Given the description of an element on the screen output the (x, y) to click on. 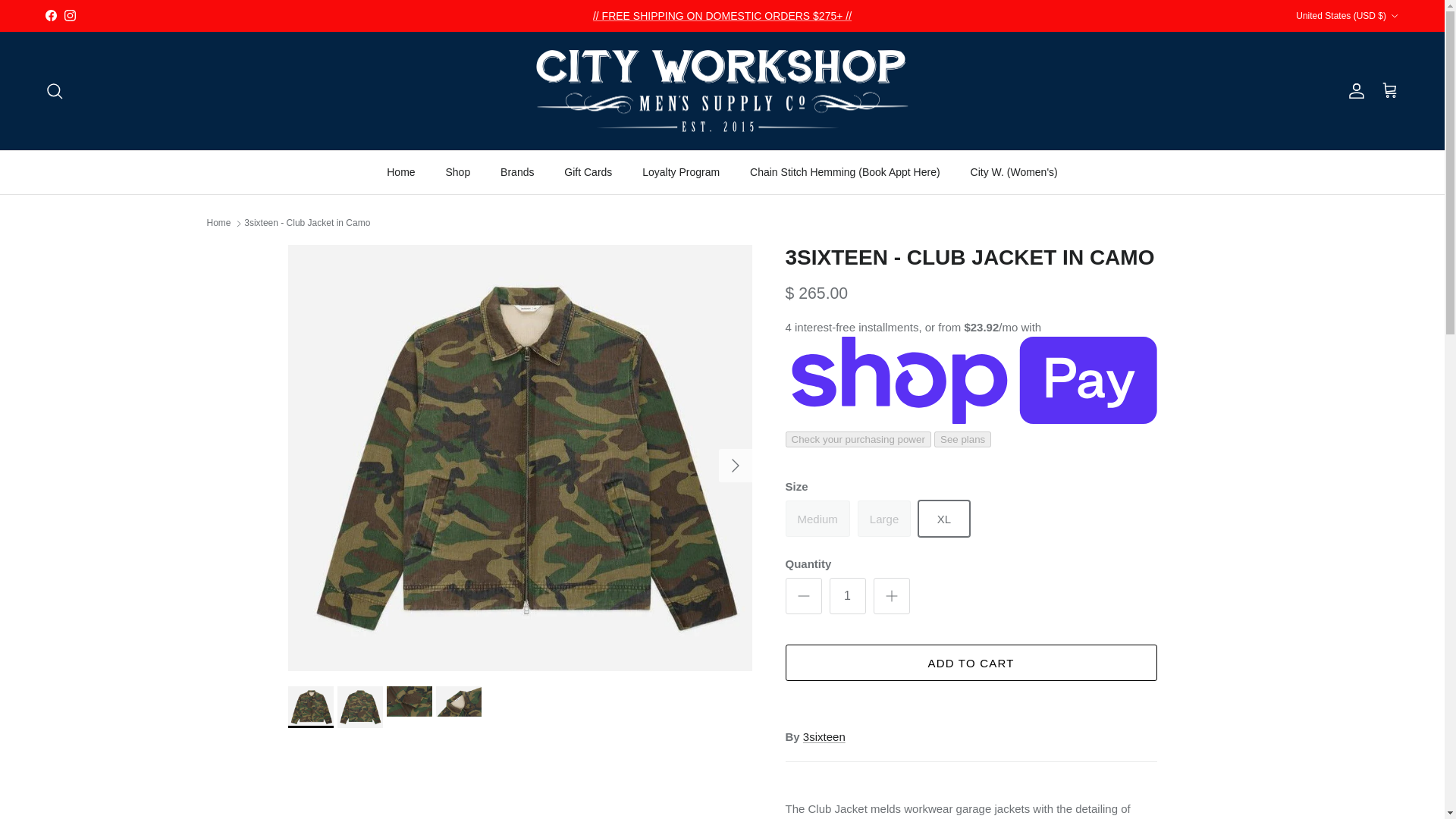
Sold out (884, 518)
Cart (1389, 90)
Instagram (69, 15)
Shop (458, 172)
Search (54, 90)
Account (1352, 90)
1 (847, 596)
Sold out (818, 518)
Brands (516, 172)
City Workshop Men's Supply Co. on Instagram (69, 15)
